Given the description of an element on the screen output the (x, y) to click on. 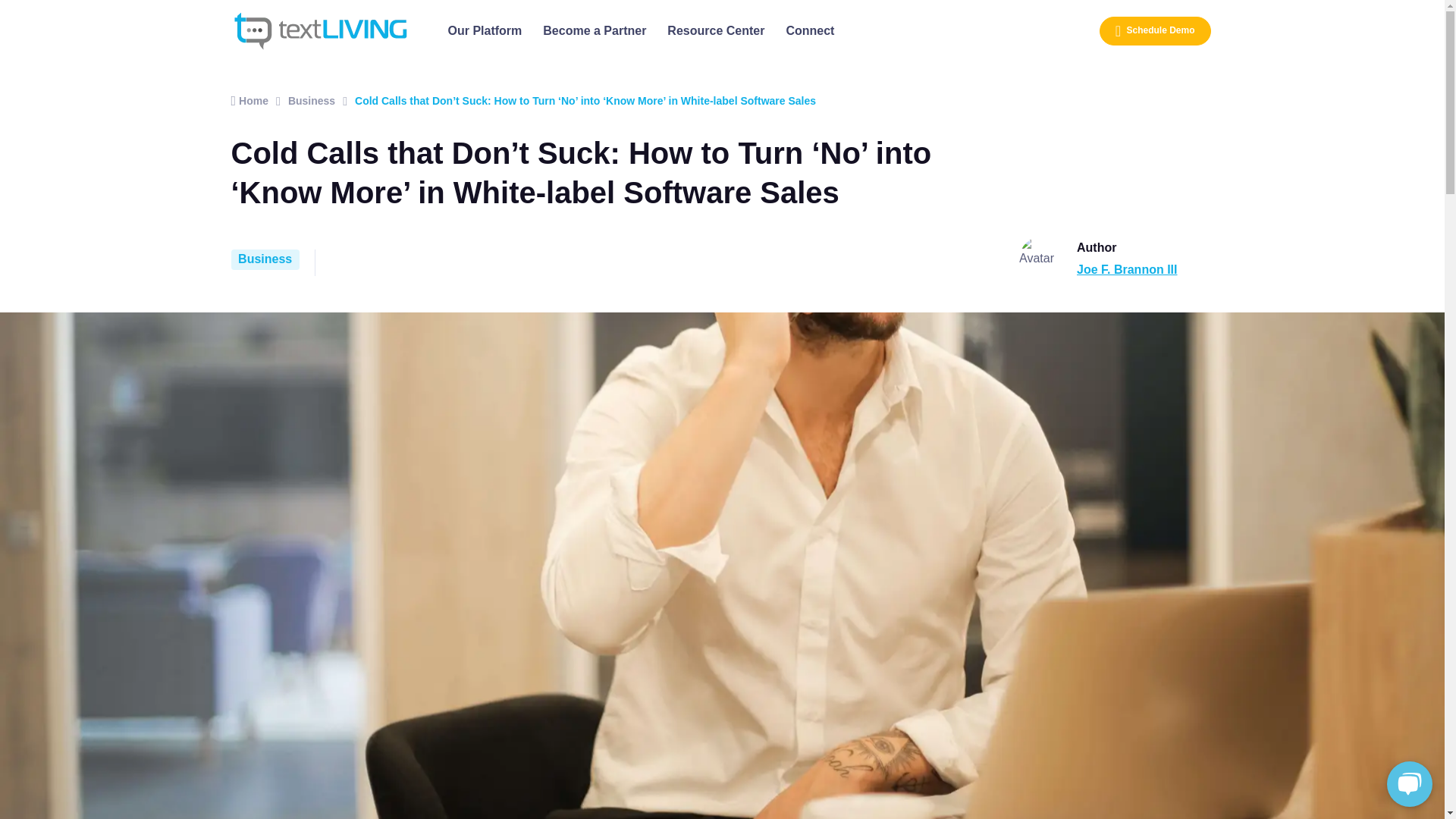
Our Platform (484, 31)
Connect (809, 31)
 Schedule Demo (1155, 30)
Business (311, 100)
Become a Partner (594, 31)
Business (264, 259)
Connect (809, 31)
Our Platform (484, 31)
Resource Center (715, 31)
Resource Center (715, 31)
Become a Partner (594, 31)
Joe F. Brannon III (1126, 269)
Home (248, 100)
